Given the description of an element on the screen output the (x, y) to click on. 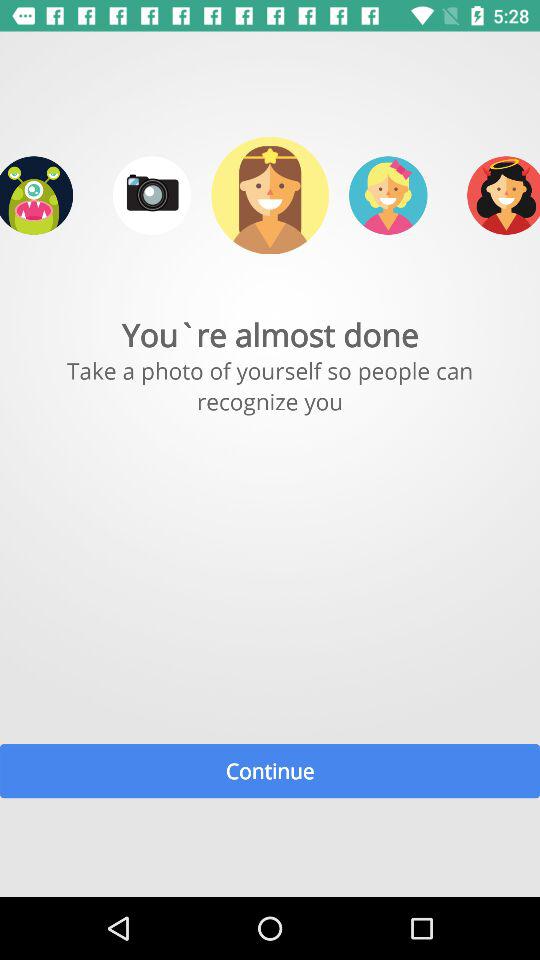
take photo (152, 195)
